Given the description of an element on the screen output the (x, y) to click on. 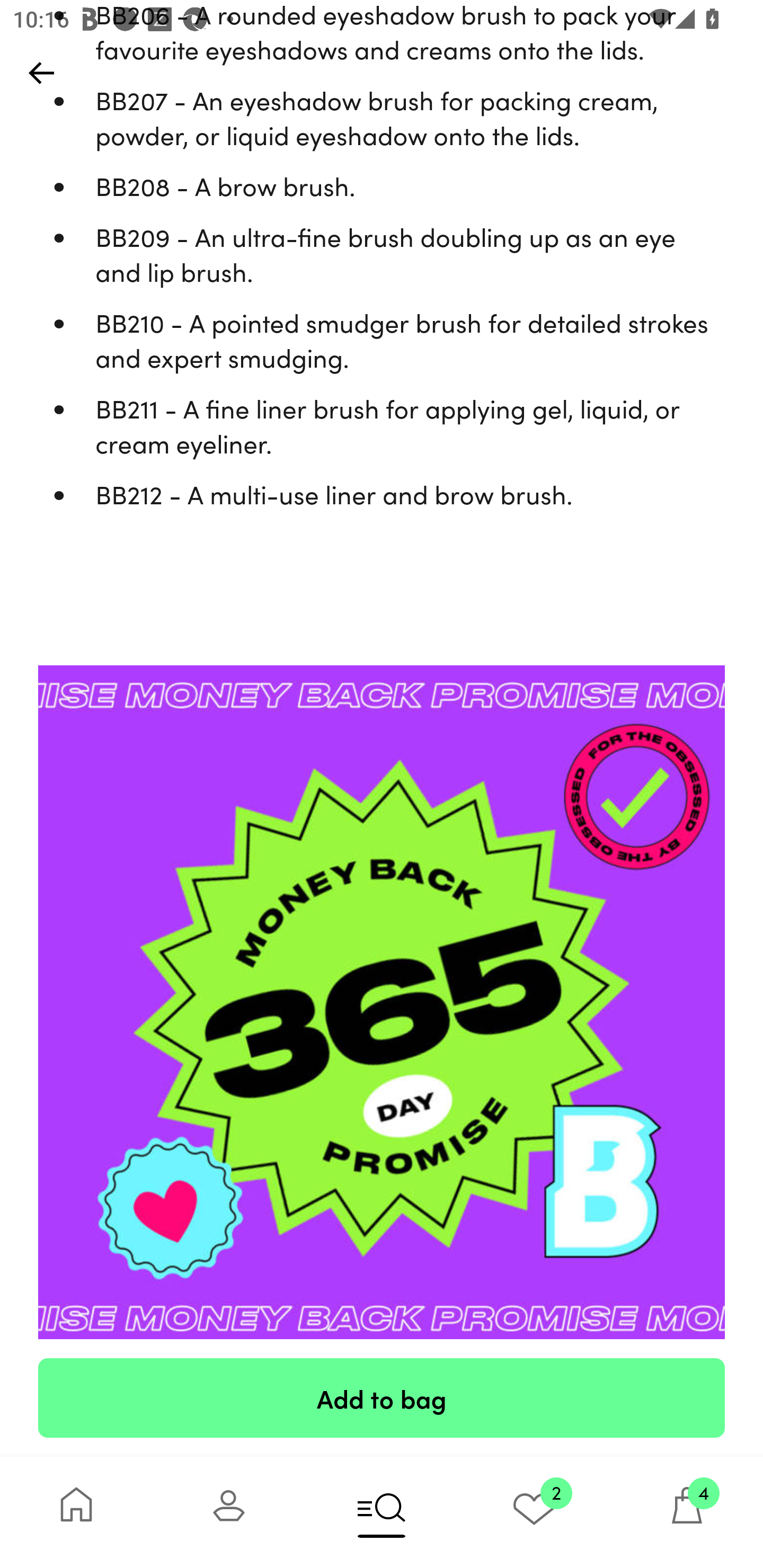
Add to bag (381, 1397)
2 (533, 1512)
4 (686, 1512)
